Given the description of an element on the screen output the (x, y) to click on. 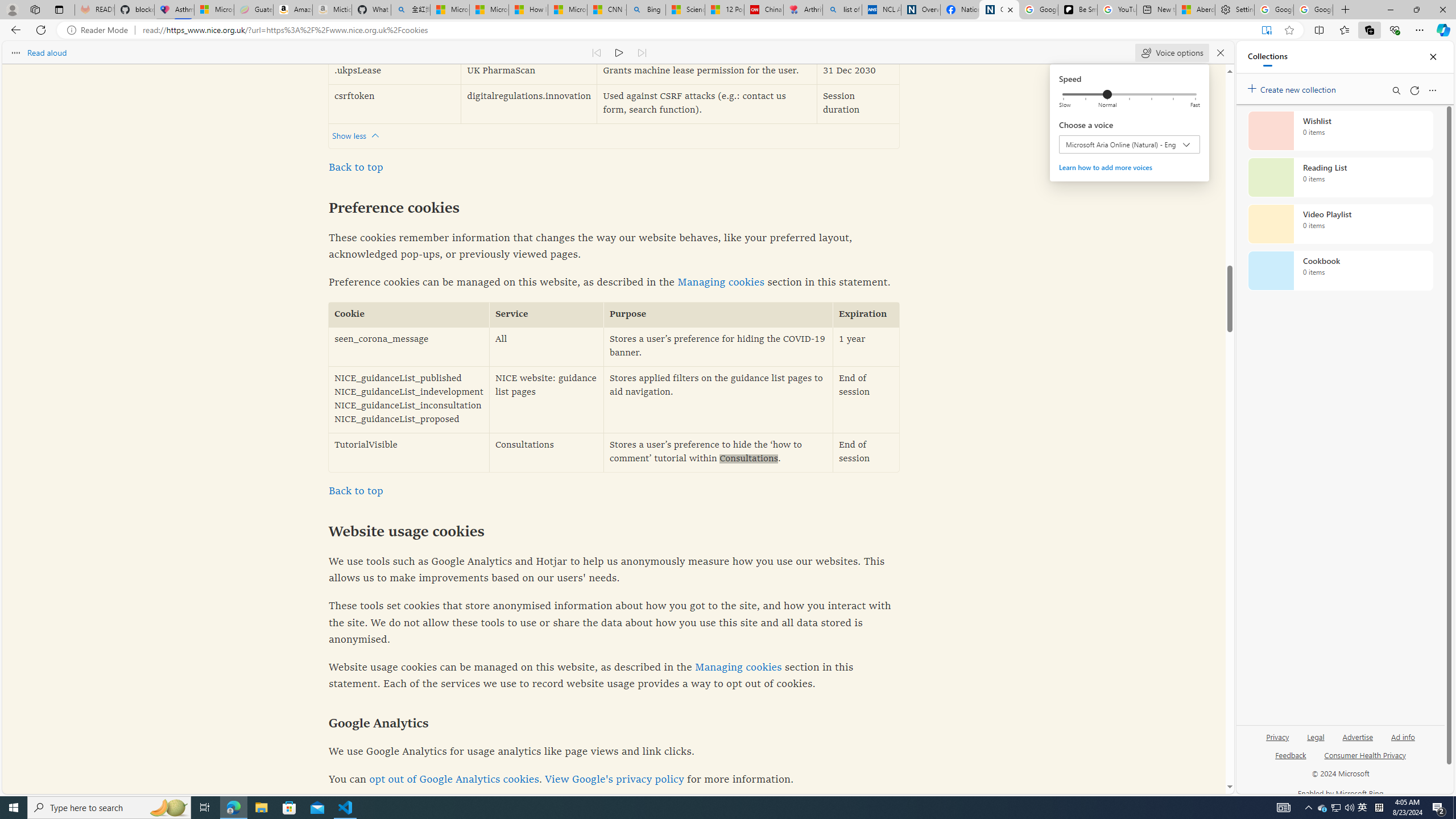
Continue to read aloud (Ctrl+Shift+U) (619, 52)
Back to top (354, 491)
Enter Immersive Reader (F9) (1266, 29)
Purpose (717, 315)
Expiration (865, 315)
Managing cookies (737, 667)
Science - MSN (685, 9)
Consumer Health Privacy (1364, 754)
